Given the description of an element on the screen output the (x, y) to click on. 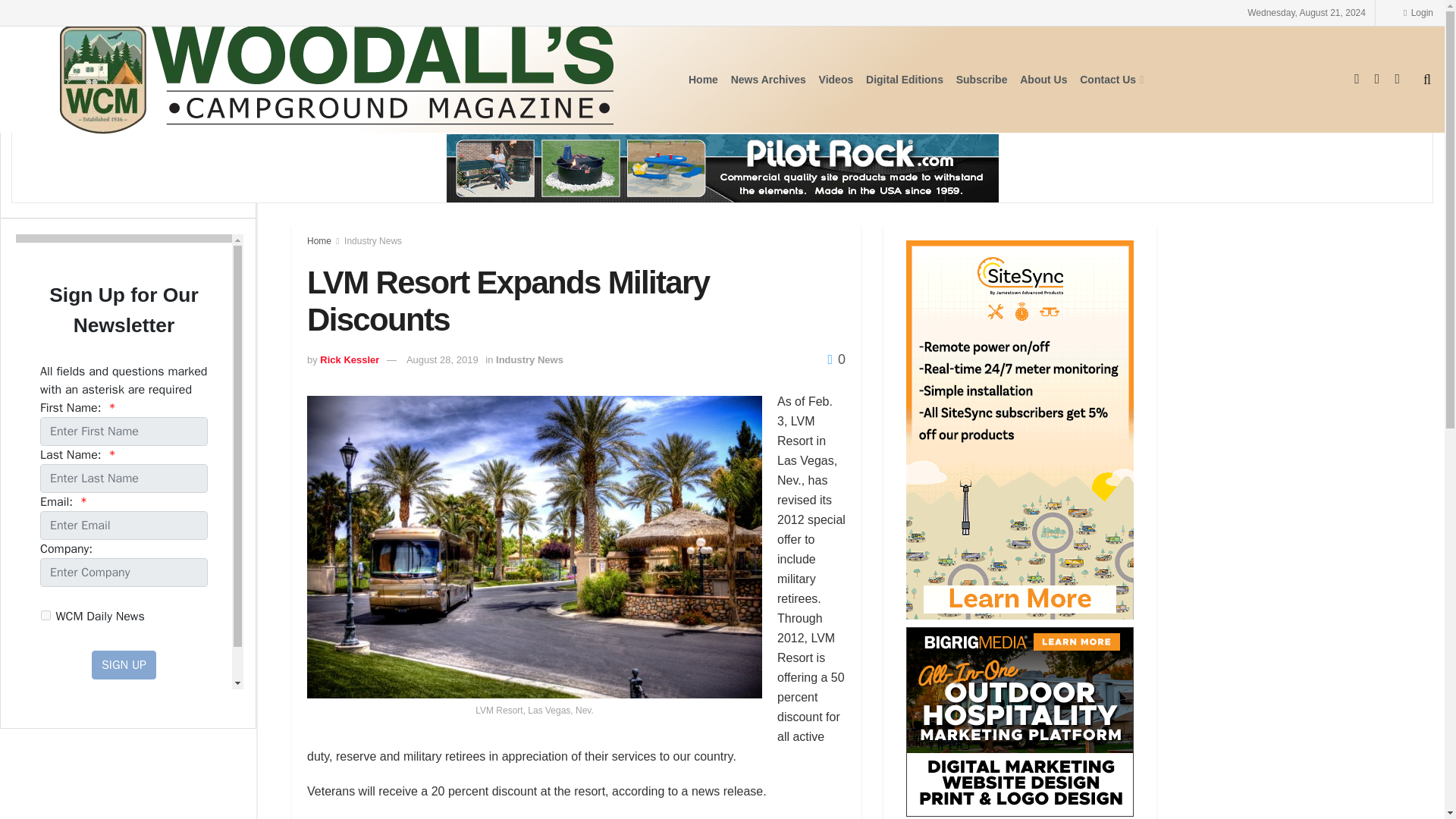
Digital Editions (904, 79)
Login (1417, 12)
Contact Us (1110, 79)
About Us (1043, 79)
Videos (835, 79)
Subscribe (981, 79)
News Archives (768, 79)
